Given the description of an element on the screen output the (x, y) to click on. 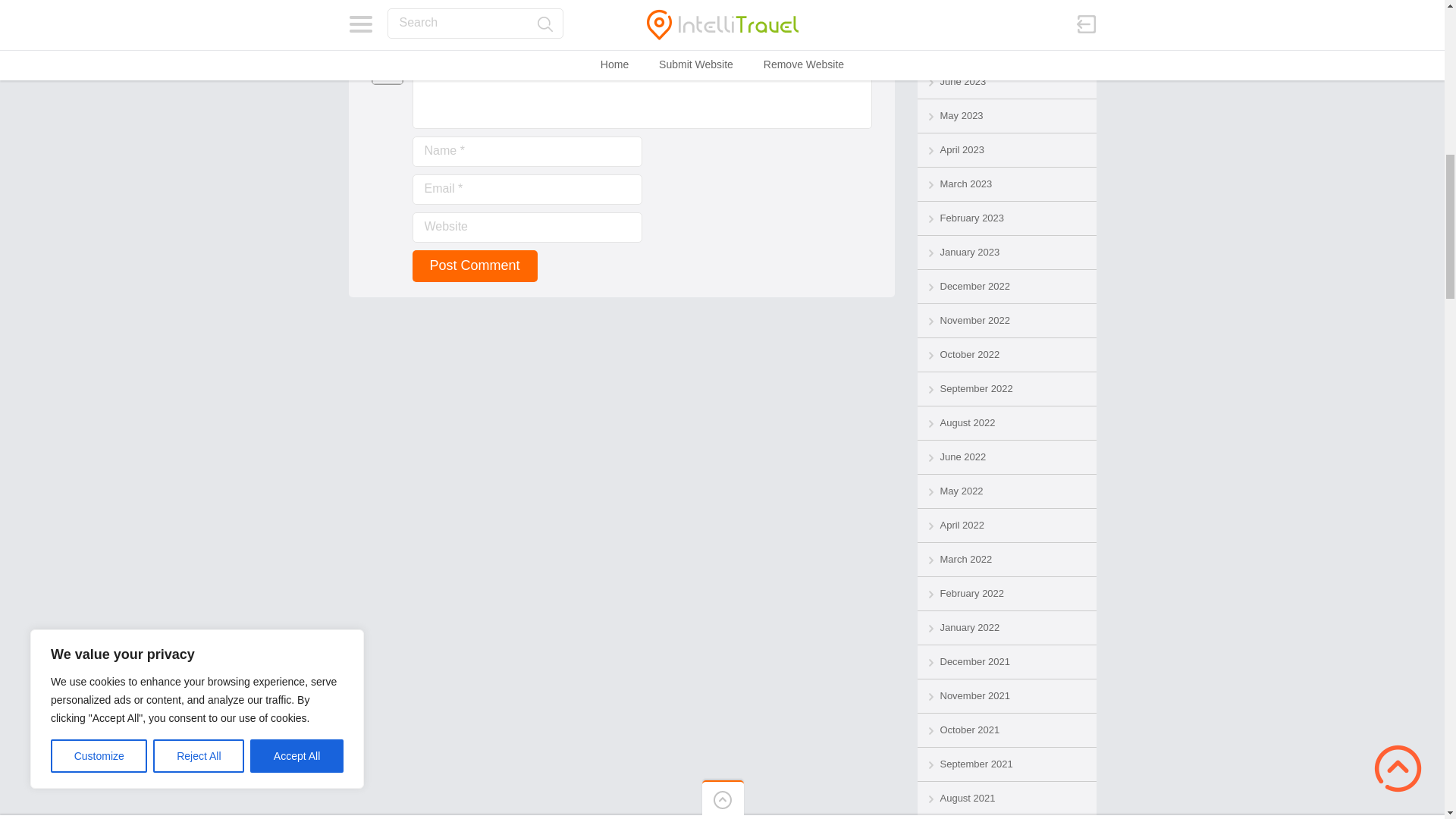
Post Comment (474, 265)
